Given the description of an element on the screen output the (x, y) to click on. 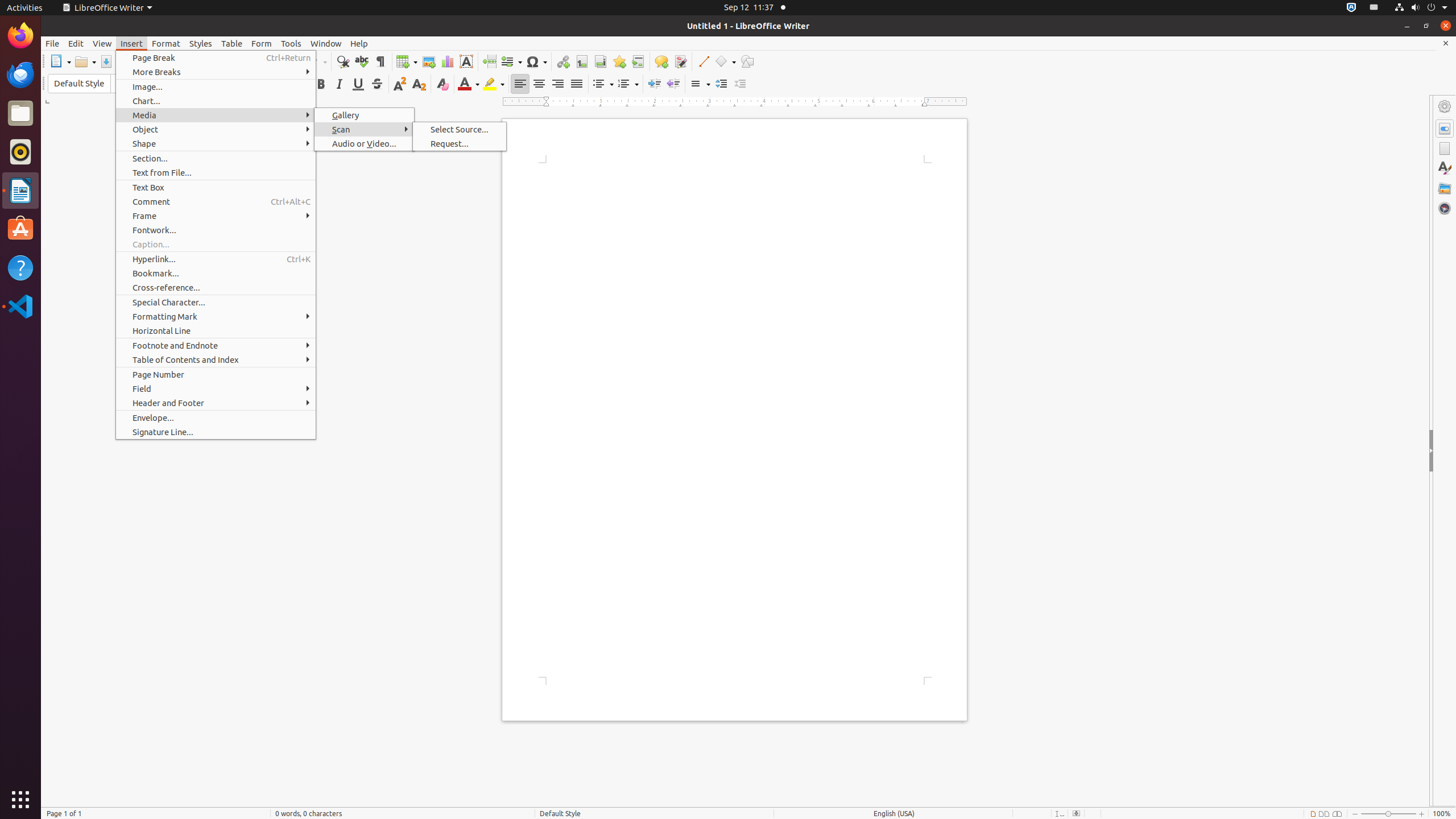
Header and Footer Element type: menu (215, 402)
Special Character... Element type: menu-item (215, 302)
Right Element type: toggle-button (557, 83)
Help Element type: menu (358, 43)
Superscript Element type: toggle-button (399, 83)
